Given the description of an element on the screen output the (x, y) to click on. 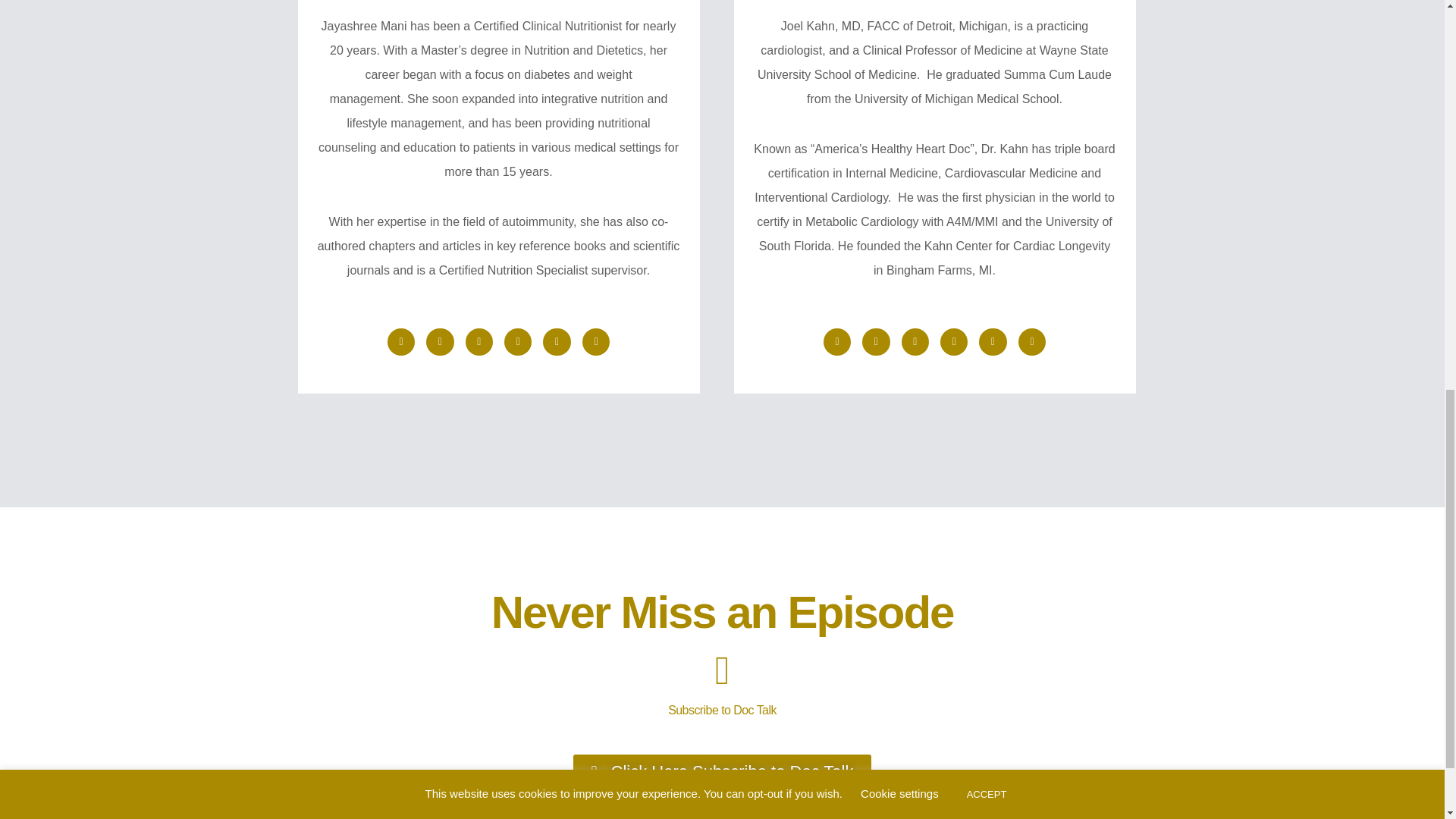
Click Here Subscribe to Doc Talk (722, 771)
